Given the description of an element on the screen output the (x, y) to click on. 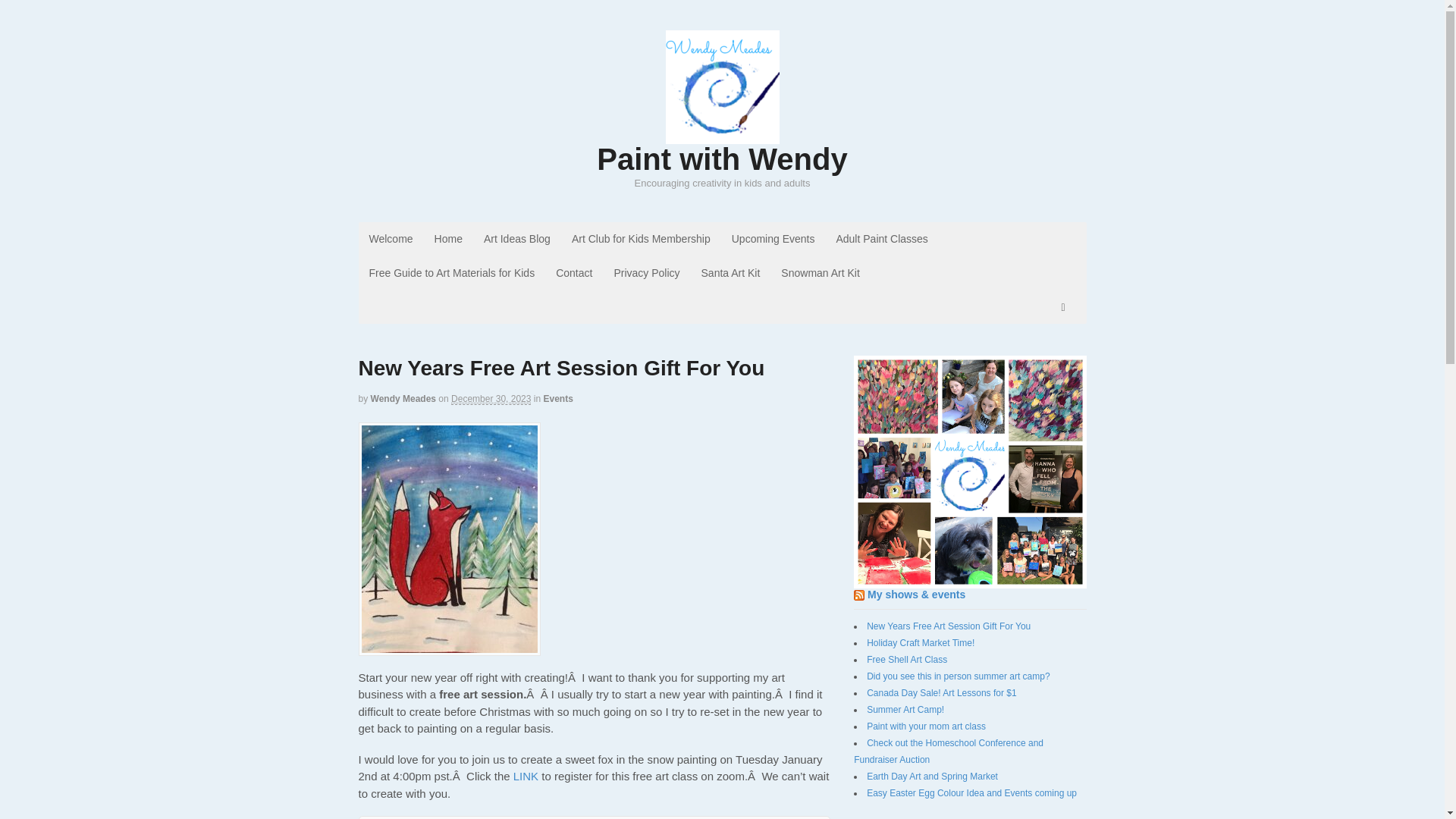
Encouraging creativity in kids and adults (721, 135)
Upcoming Events (772, 238)
LINK (527, 775)
Free Shell Art Class (906, 659)
Paint with your mom art class (925, 726)
View all items in Events (557, 398)
Contact (573, 273)
Free Guide to Art Materials for Kids (451, 273)
Home (448, 238)
Art Ideas Blog (516, 238)
Events (557, 398)
Adult Paint Classes (881, 238)
Check out the Homeschool Conference and Fundraiser Auction (948, 750)
Summer Art Camp! (904, 709)
Art Club for Kids Membership (640, 238)
